Given the description of an element on the screen output the (x, y) to click on. 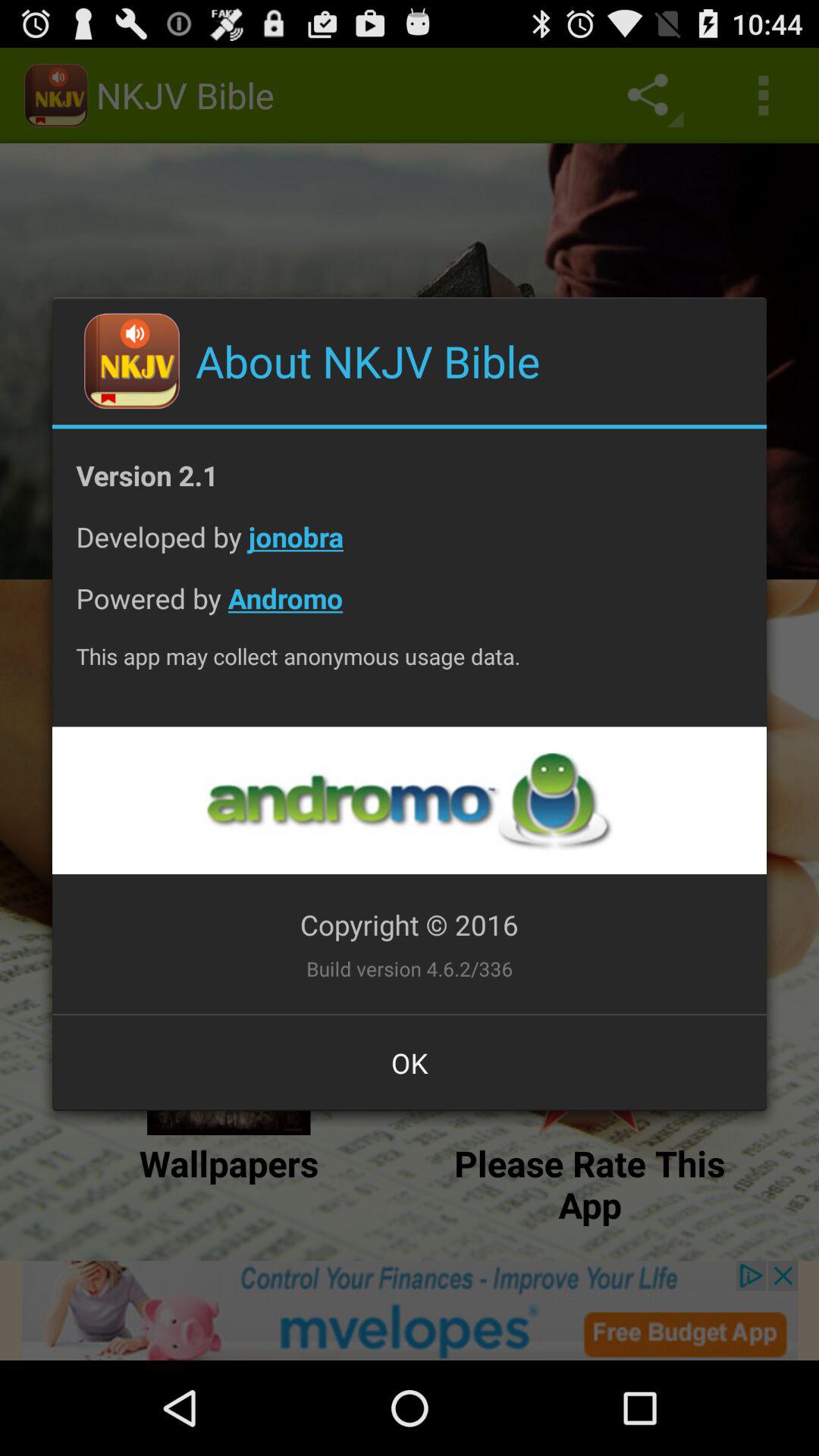
launch the developed by jonobra app (409, 548)
